Given the description of an element on the screen output the (x, y) to click on. 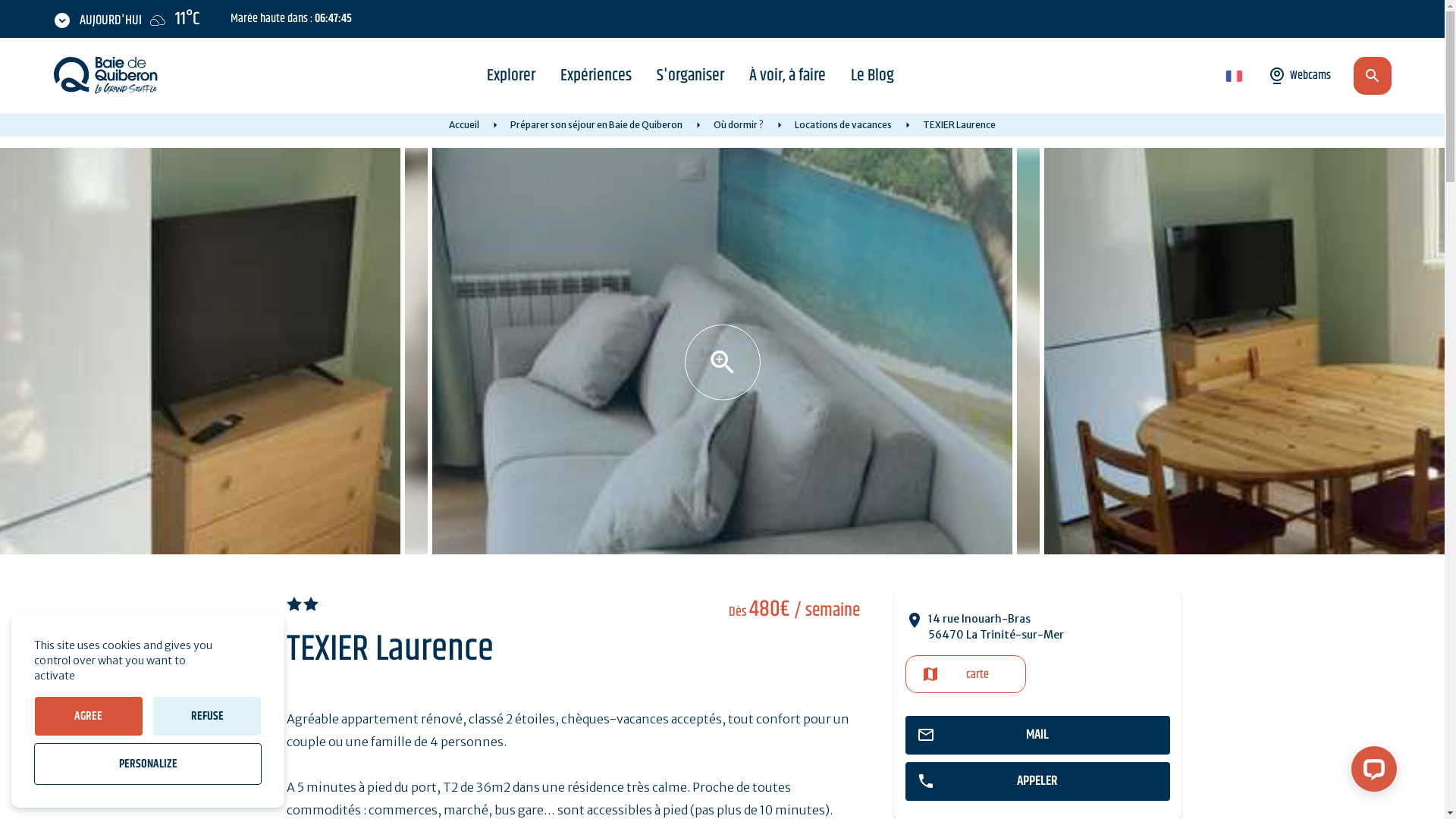
MAIL Element type: text (1037, 734)
Webcams Element type: text (1300, 75)
S'organiser Element type: text (690, 75)
TEXIER Laurence Element type: hover (722, 350)
LiveChat chat widget Element type: hover (1370, 771)
Aller au contenu principal Element type: text (0, 0)
Le Blog Element type: text (872, 75)
AGREE Element type: text (88, 715)
Accueil Element type: text (463, 124)
PERSONALIZE Element type: text (147, 763)
Locations de vacances Element type: text (842, 124)
Explorer Element type: text (510, 75)
carte Element type: text (965, 674)
REFUSE Element type: text (206, 715)
